Given the description of an element on the screen output the (x, y) to click on. 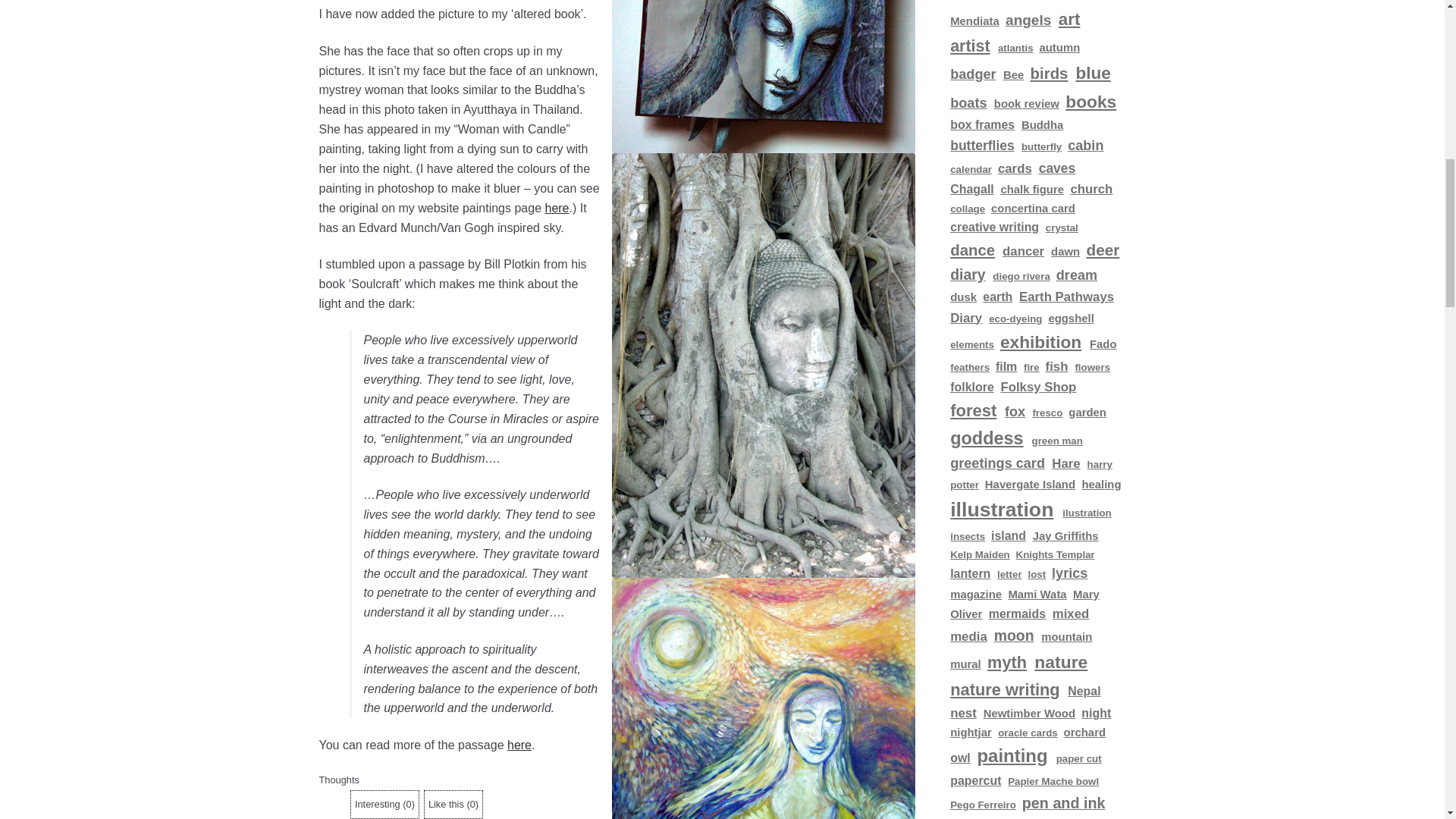
Woman with Candle (763, 698)
Altered book with woman's face (763, 76)
